Given the description of an element on the screen output the (x, y) to click on. 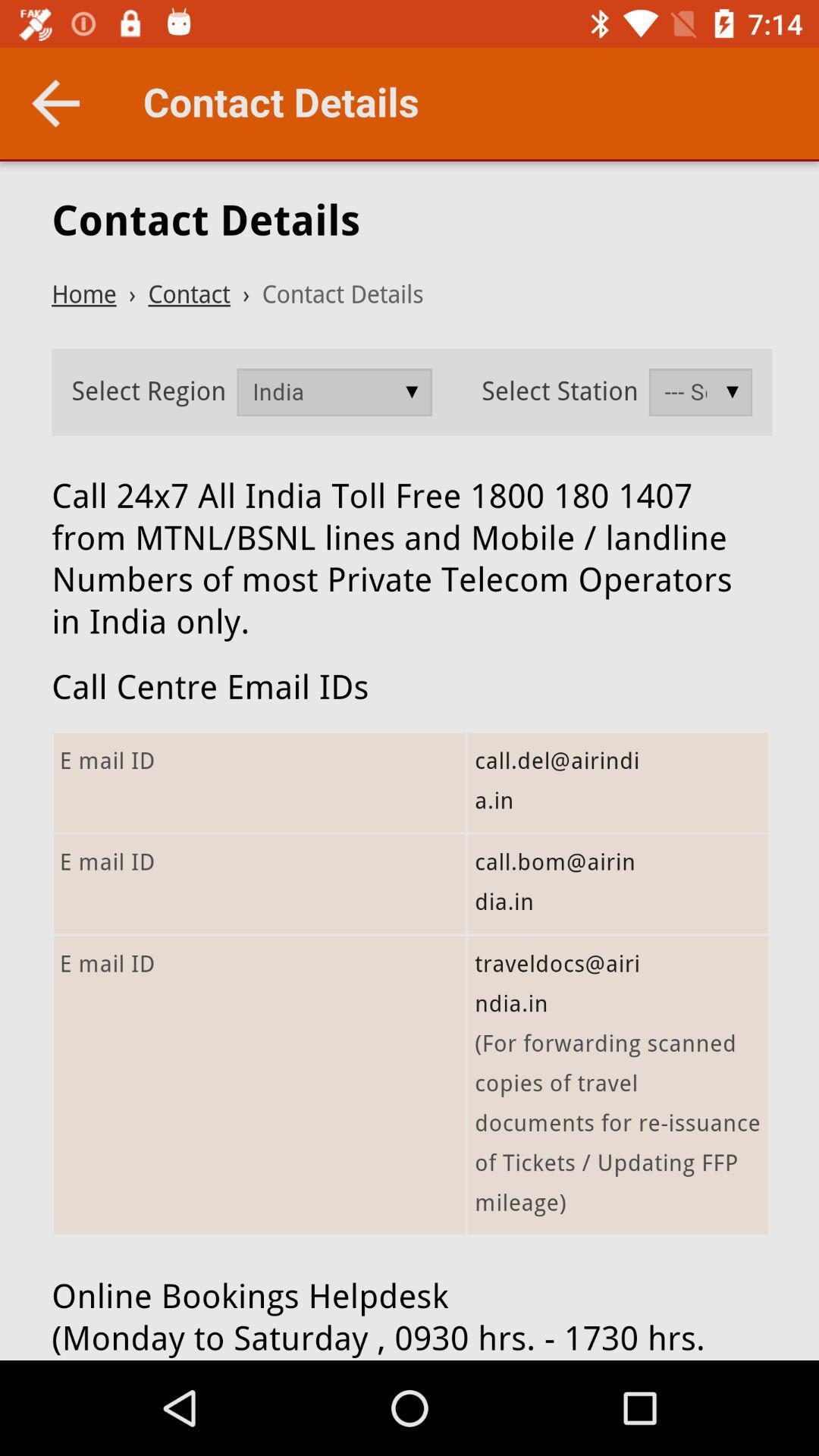
go back (55, 103)
